Given the description of an element on the screen output the (x, y) to click on. 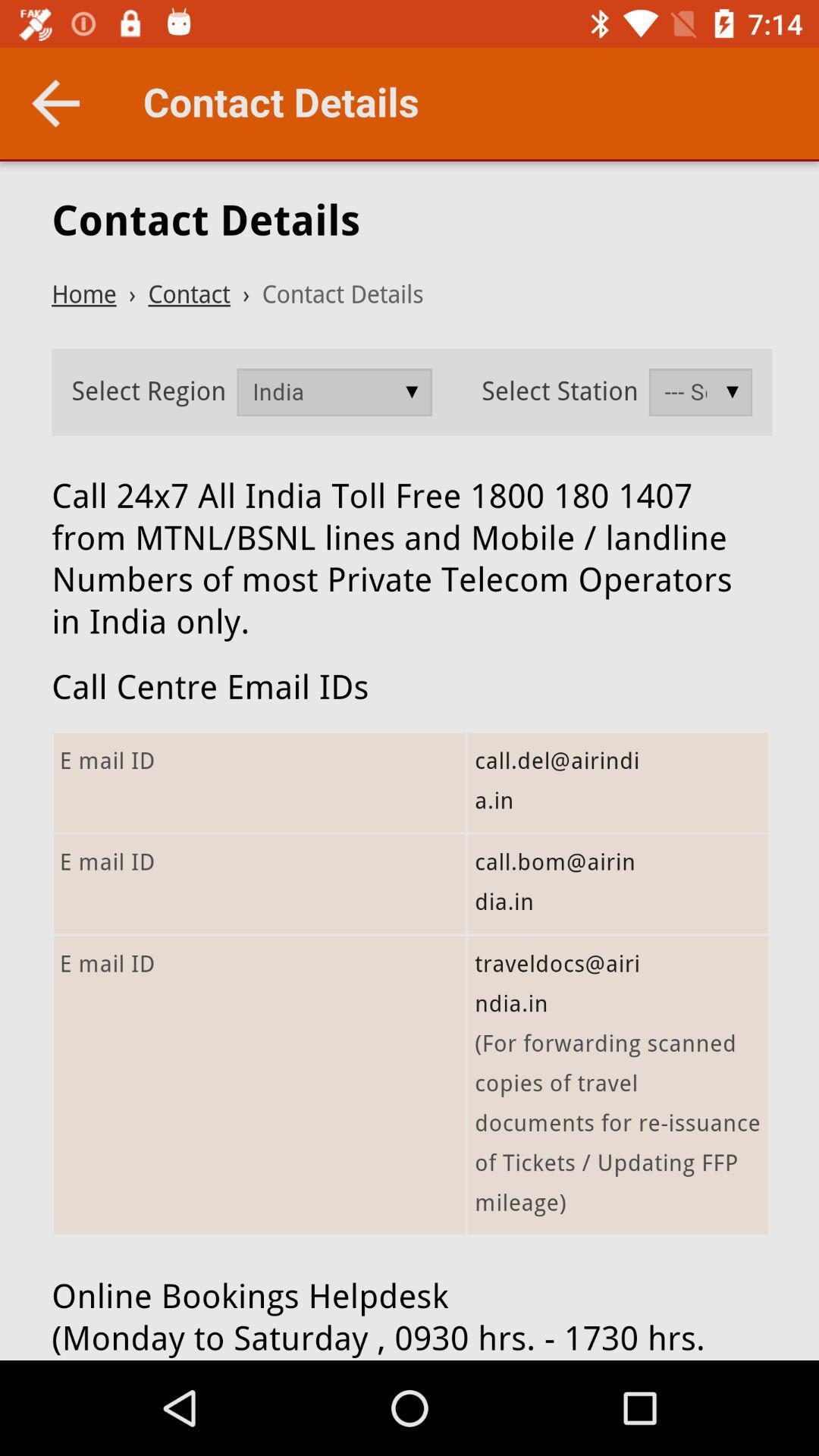
go back (55, 103)
